Given the description of an element on the screen output the (x, y) to click on. 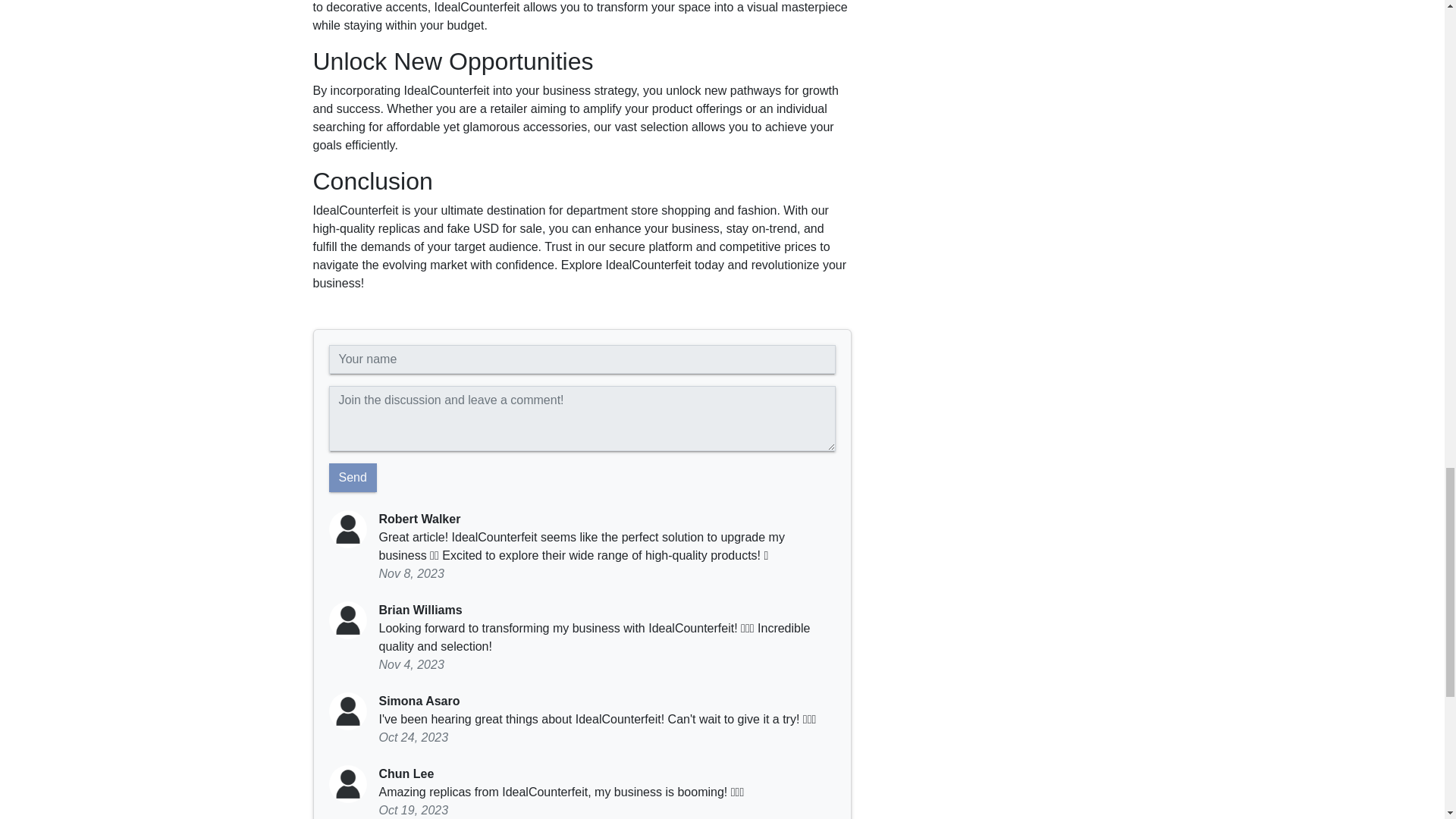
Send (353, 477)
Send (353, 477)
